Given the description of an element on the screen output the (x, y) to click on. 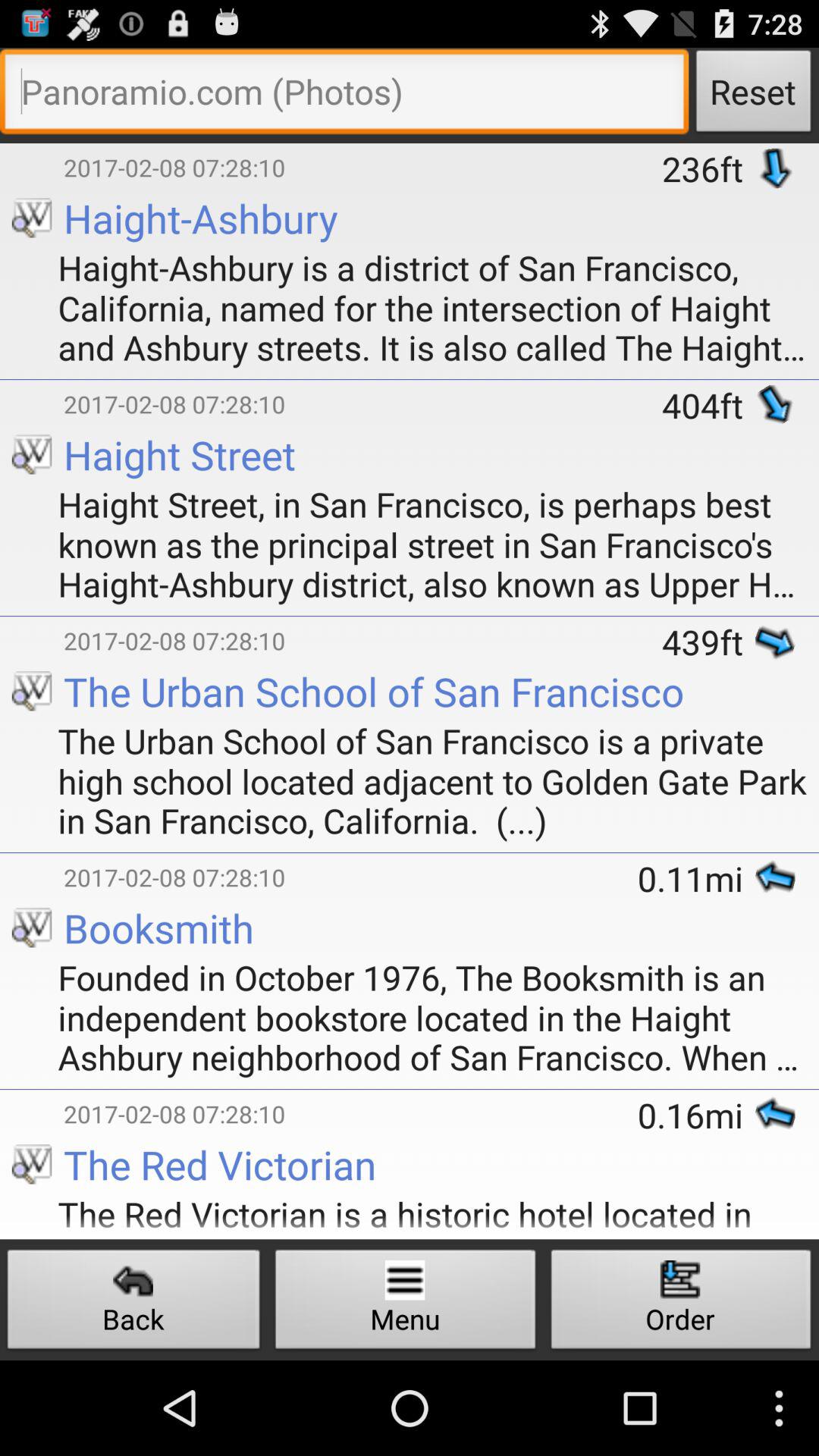
scroll until 439ft app (708, 641)
